Given the description of an element on the screen output the (x, y) to click on. 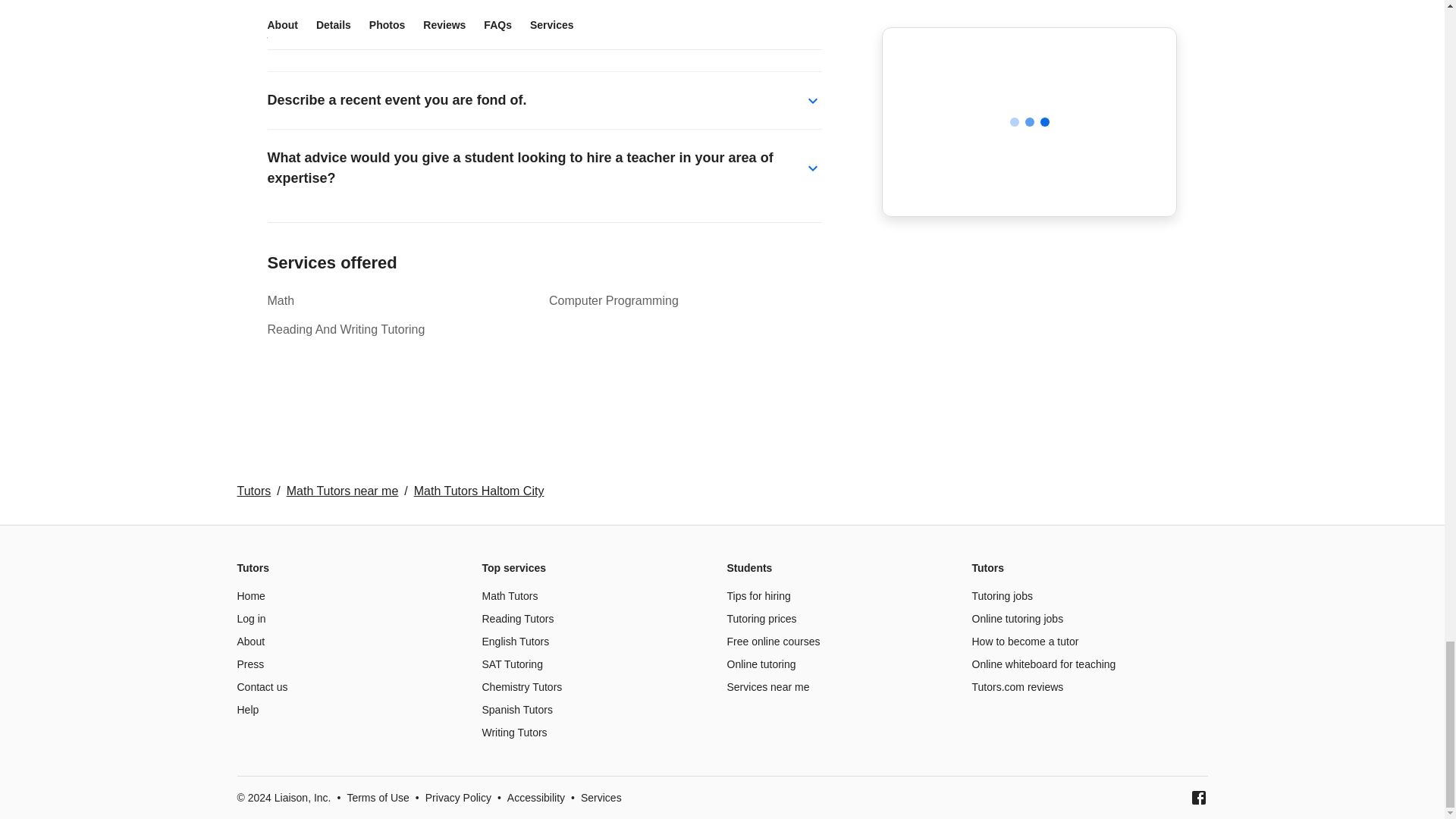
Facebook (1198, 797)
Tutors (252, 490)
Math Tutors near me (342, 490)
